Given the description of an element on the screen output the (x, y) to click on. 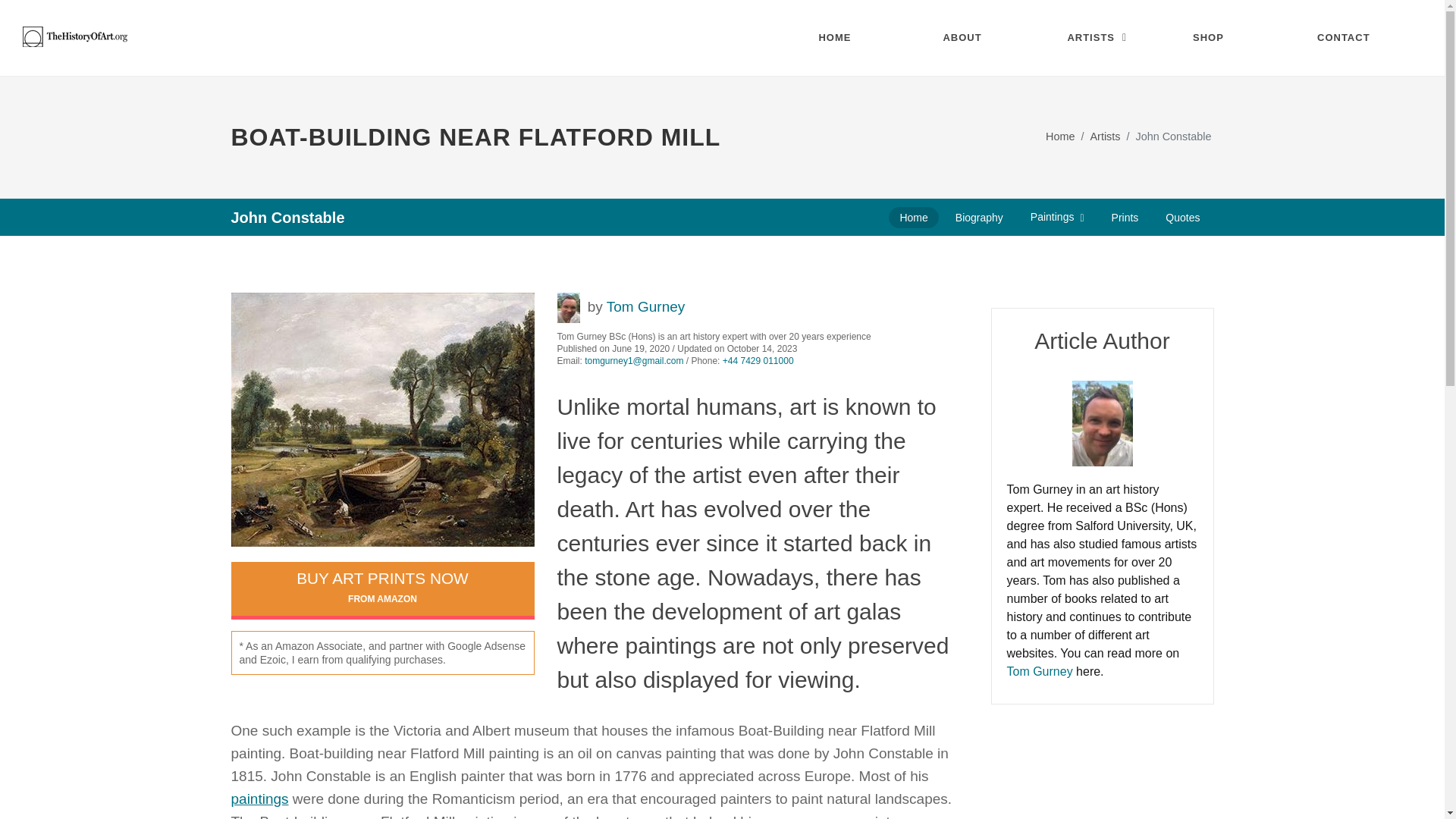
HOME (849, 38)
ARTISTS (1098, 38)
ABOUT (973, 38)
